Given the description of an element on the screen output the (x, y) to click on. 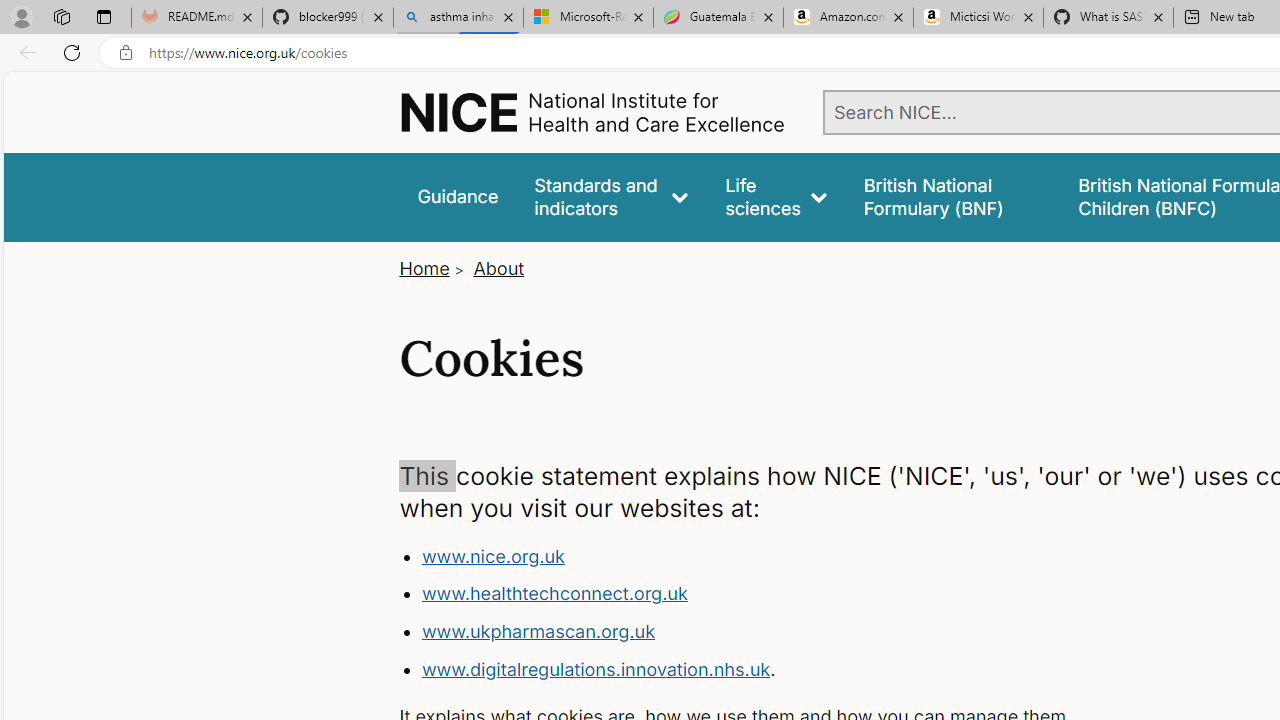
asthma inhaler - Search (458, 17)
www.ukpharmascan.org.uk (538, 631)
www.healthtechconnect.org.uk (554, 593)
